Given the description of an element on the screen output the (x, y) to click on. 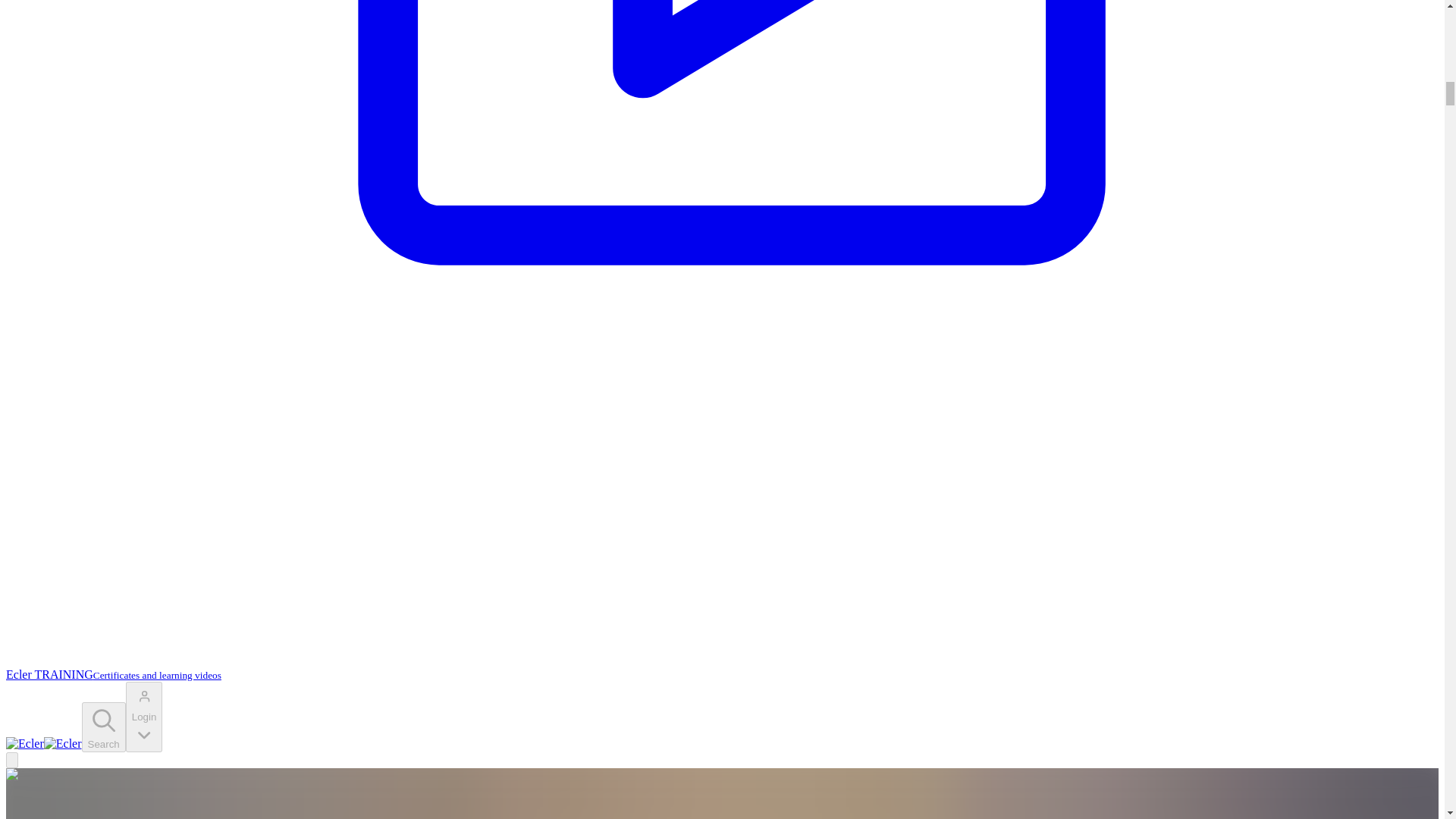
Ecler (43, 743)
